Given the description of an element on the screen output the (x, y) to click on. 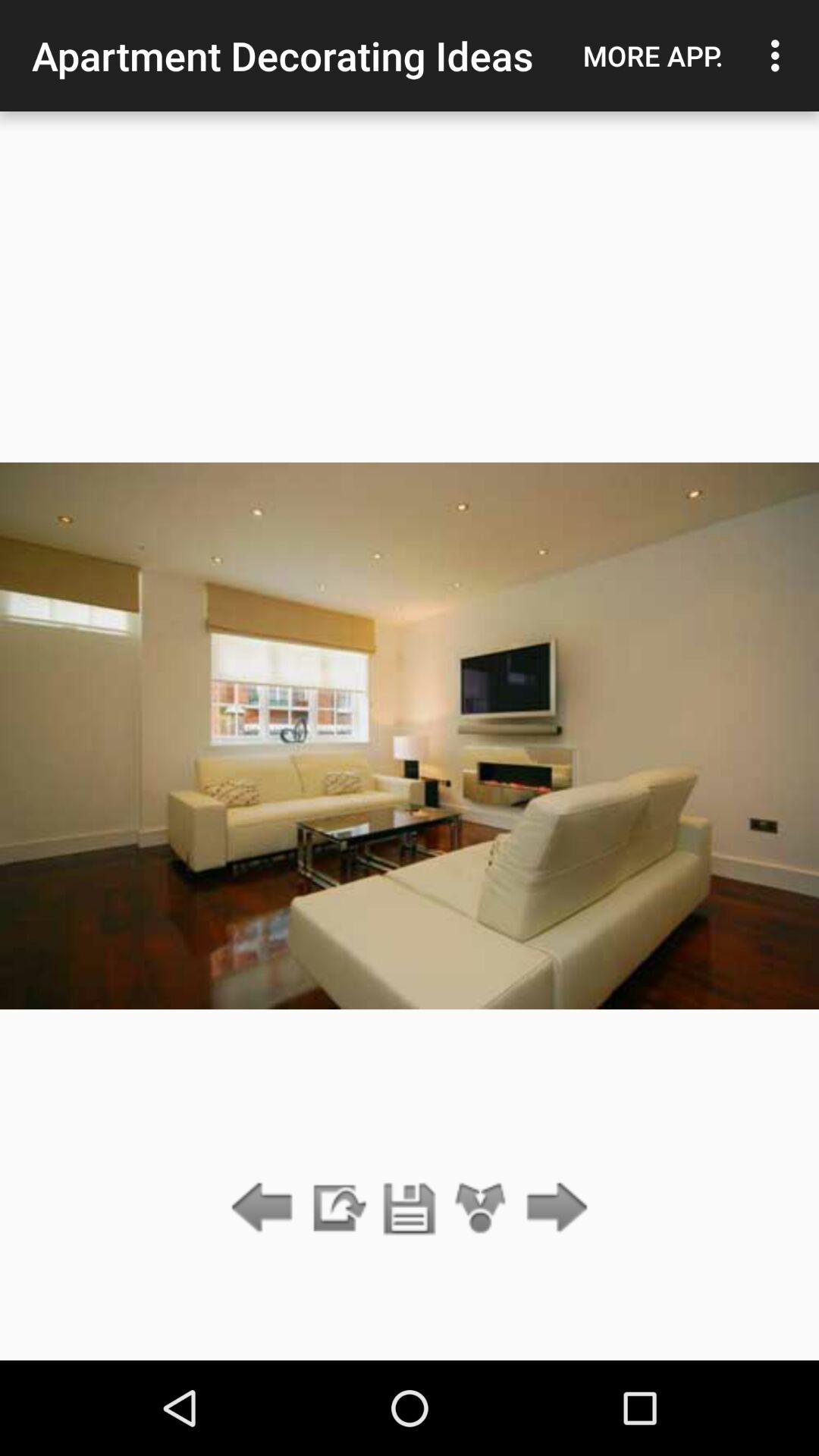
select icon at the bottom right corner (552, 1209)
